Given the description of an element on the screen output the (x, y) to click on. 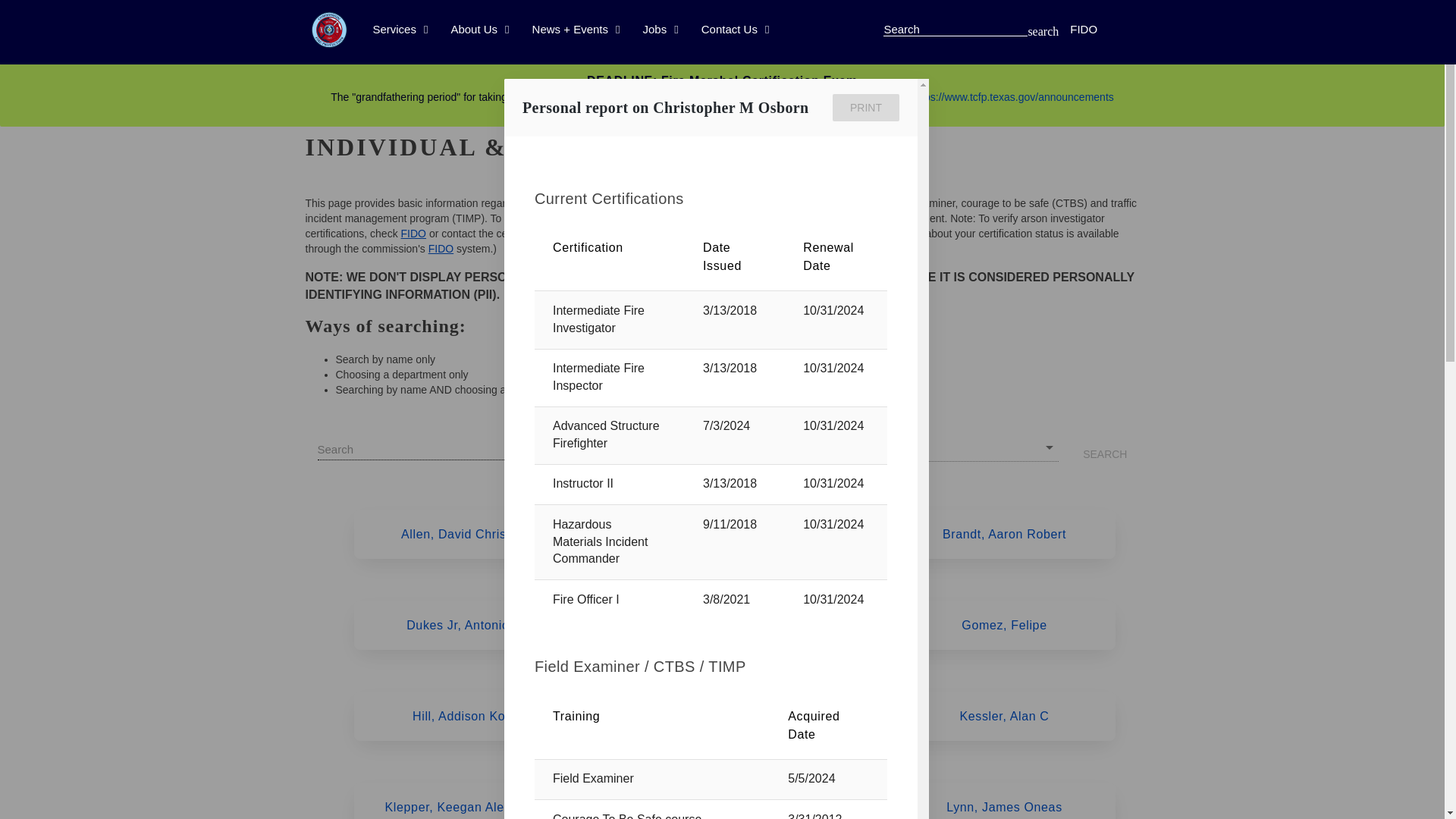
FIDO login external link (440, 248)
Search (955, 29)
FIDO login external link (413, 233)
Services (400, 29)
Link (1012, 96)
Search (955, 29)
